Given the description of an element on the screen output the (x, y) to click on. 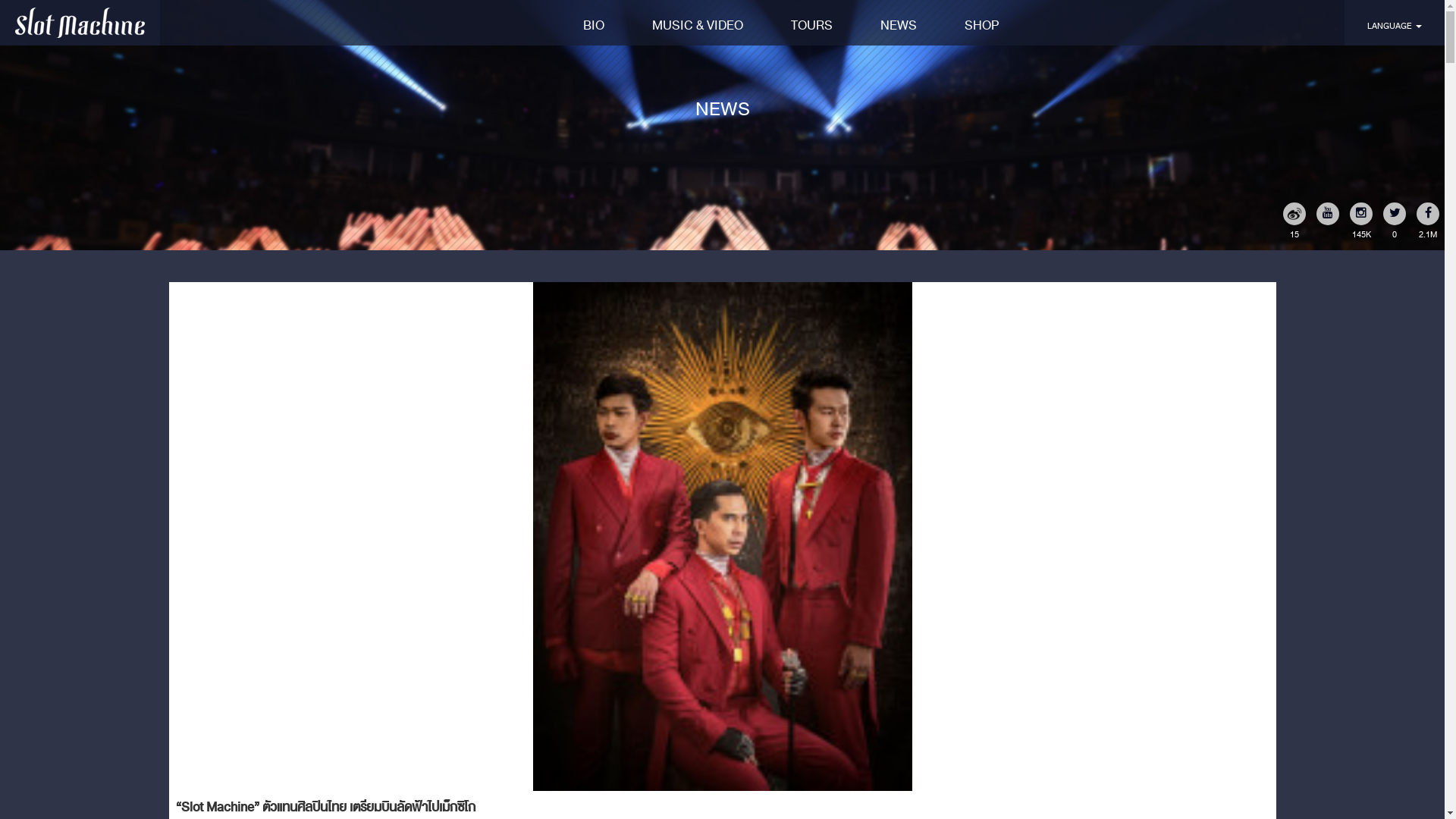
MUSIC & VIDEO Element type: text (697, 23)
SHOP Element type: text (981, 23)
LANGUAGE Element type: text (1394, 23)
TOURS Element type: text (810, 23)
BIO Element type: text (592, 23)
NEWS Element type: text (897, 23)
